Given the description of an element on the screen output the (x, y) to click on. 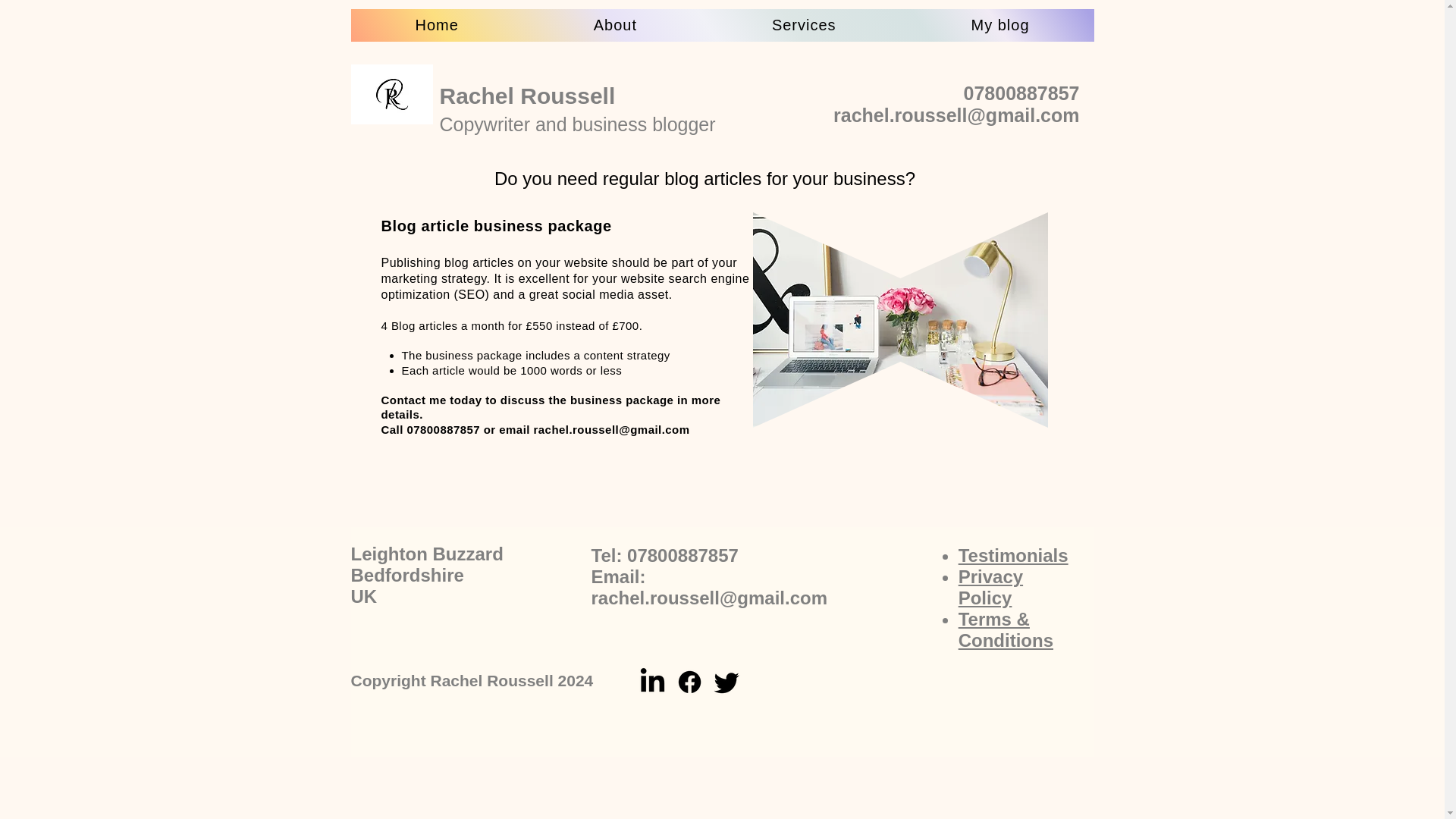
Testimonials (1013, 555)
Services (804, 25)
Privacy Policy (990, 587)
About (615, 25)
Home (436, 25)
My blog (1000, 25)
